Given the description of an element on the screen output the (x, y) to click on. 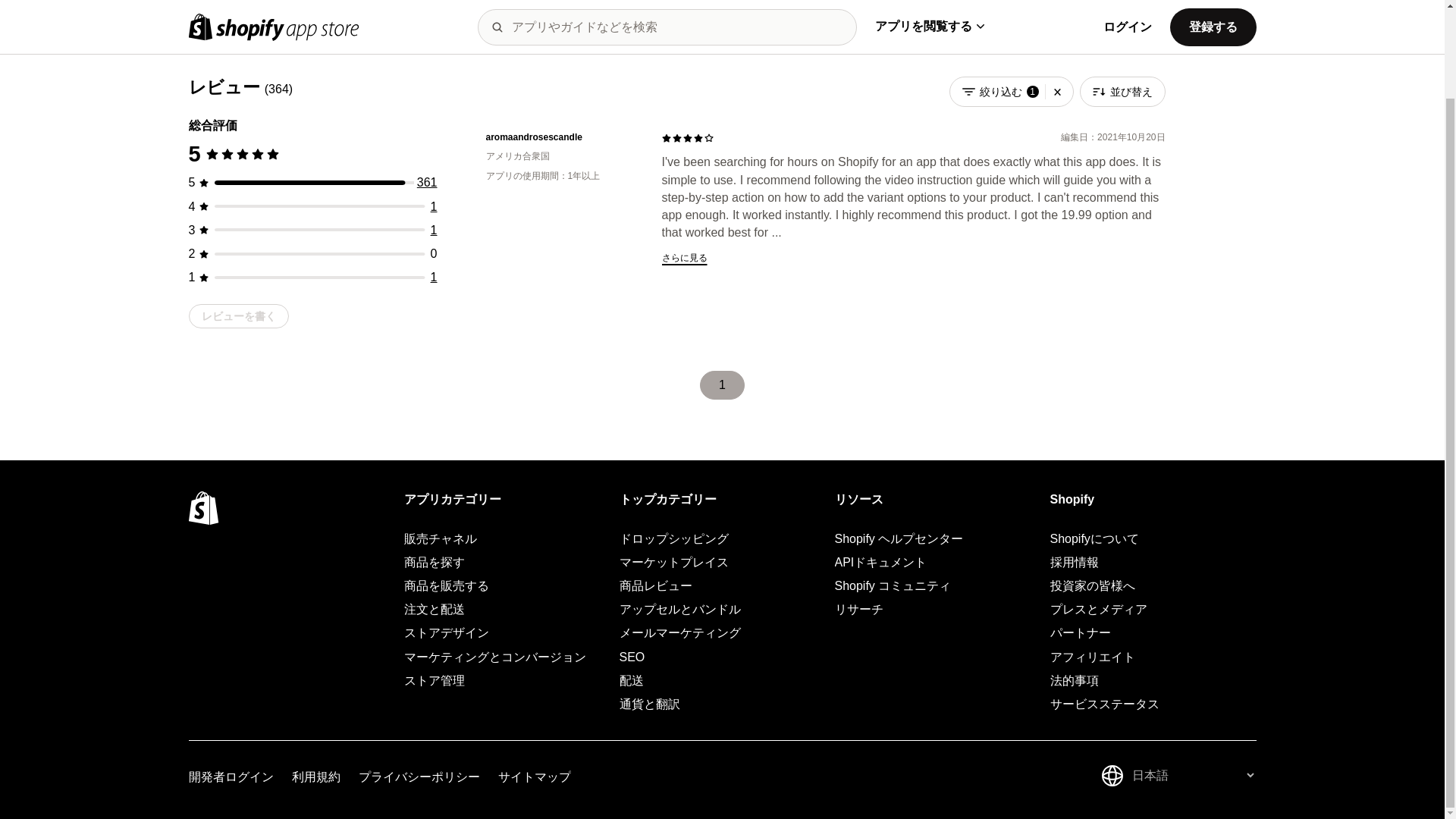
361 (427, 182)
Dynamic Product Options (306, 9)
aromaandrosescandle (560, 137)
